Given the description of an element on the screen output the (x, y) to click on. 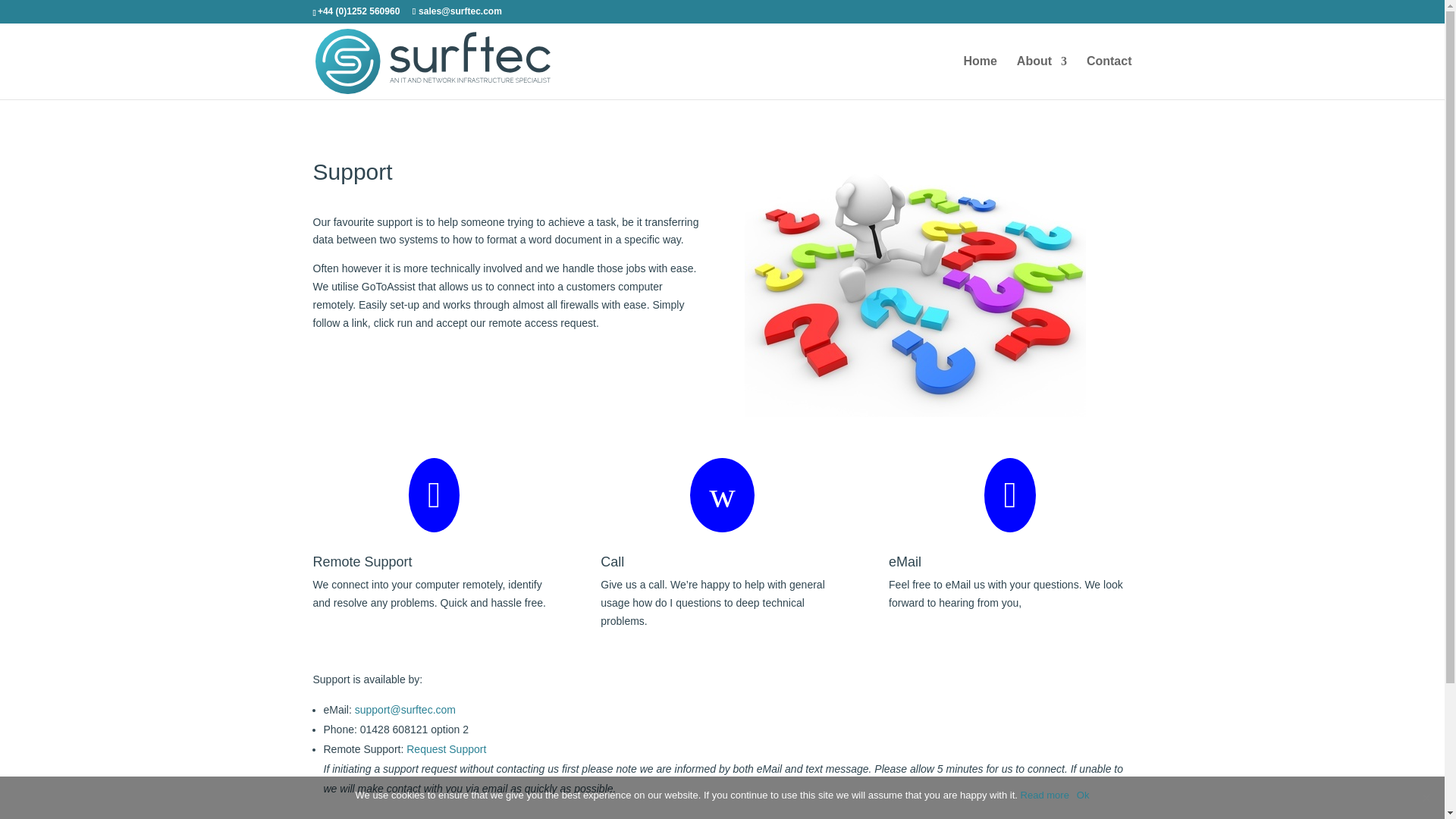
Remote Support (362, 561)
Contact (1109, 77)
About (1041, 77)
Read more (1044, 794)
Request Support (446, 748)
No (1425, 797)
